Given the description of an element on the screen output the (x, y) to click on. 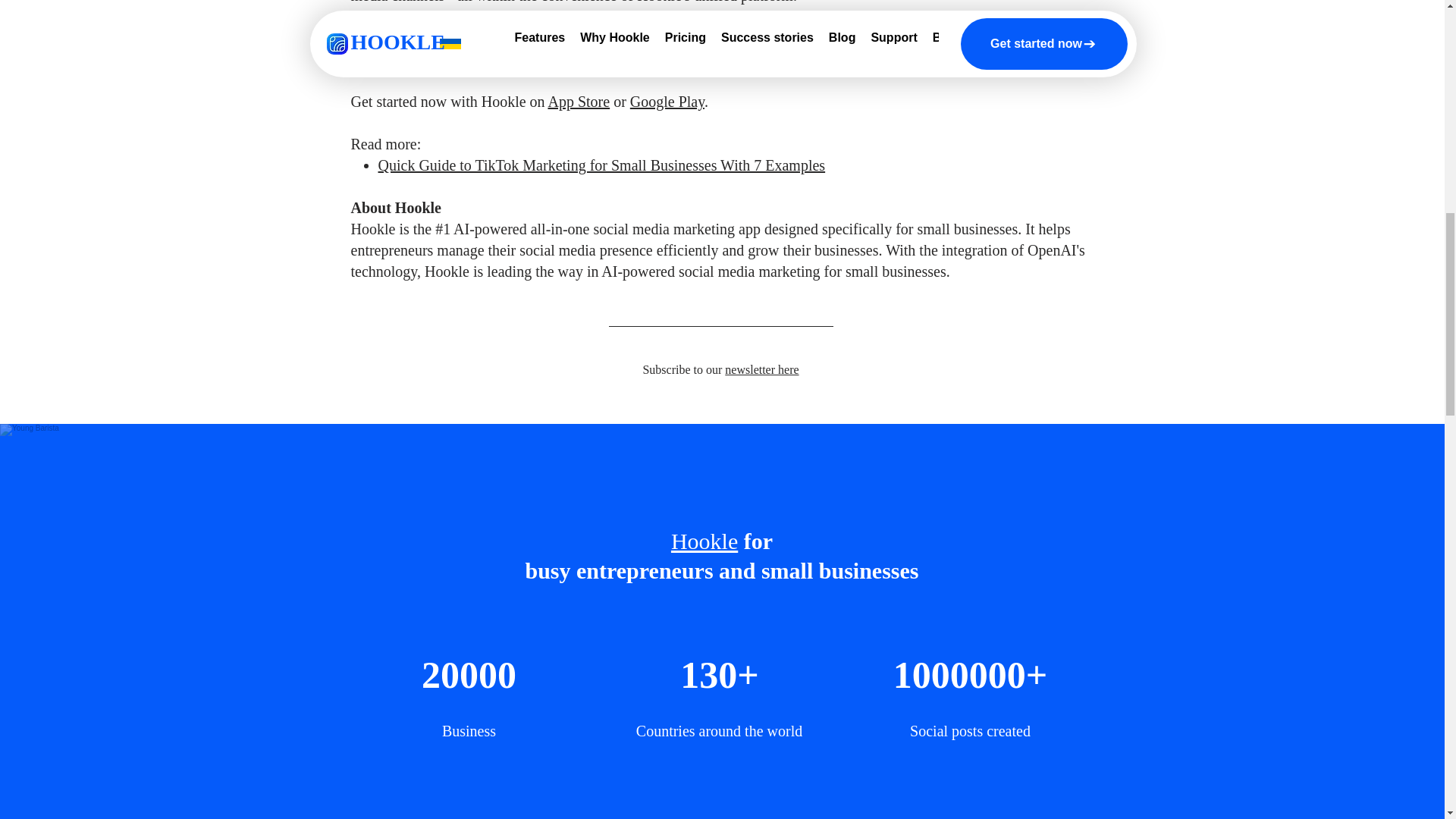
Hookle (704, 540)
newsletter here (761, 369)
App Store (578, 101)
Google Play (667, 101)
